Given the description of an element on the screen output the (x, y) to click on. 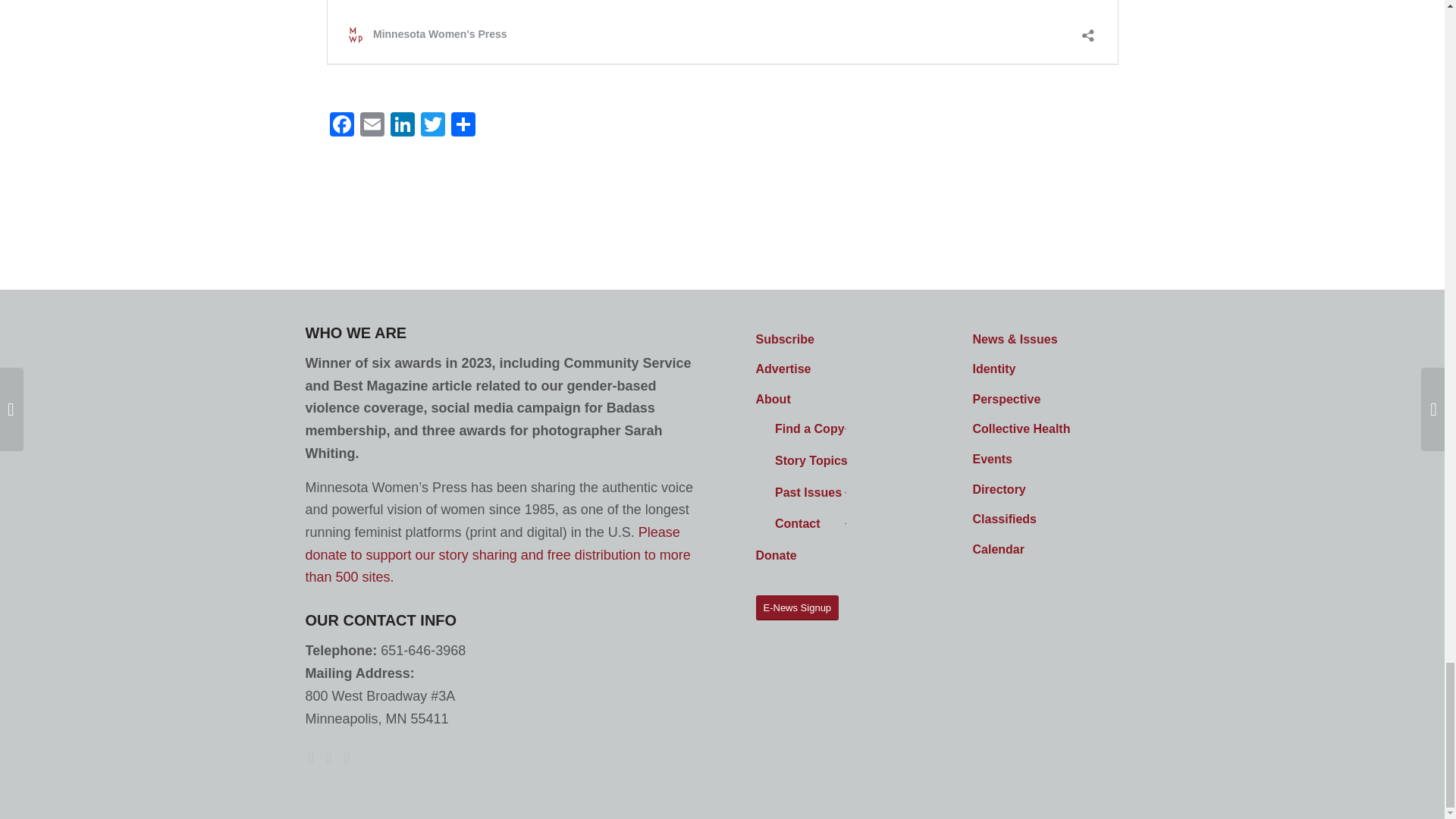
Page 7 (722, 48)
Page 7 (722, 48)
Page 6 (722, 48)
Page 7 (722, 48)
Page 7 (722, 48)
Page 6 (722, 48)
Page 7 (722, 48)
Page 7 (722, 48)
